Given the description of an element on the screen output the (x, y) to click on. 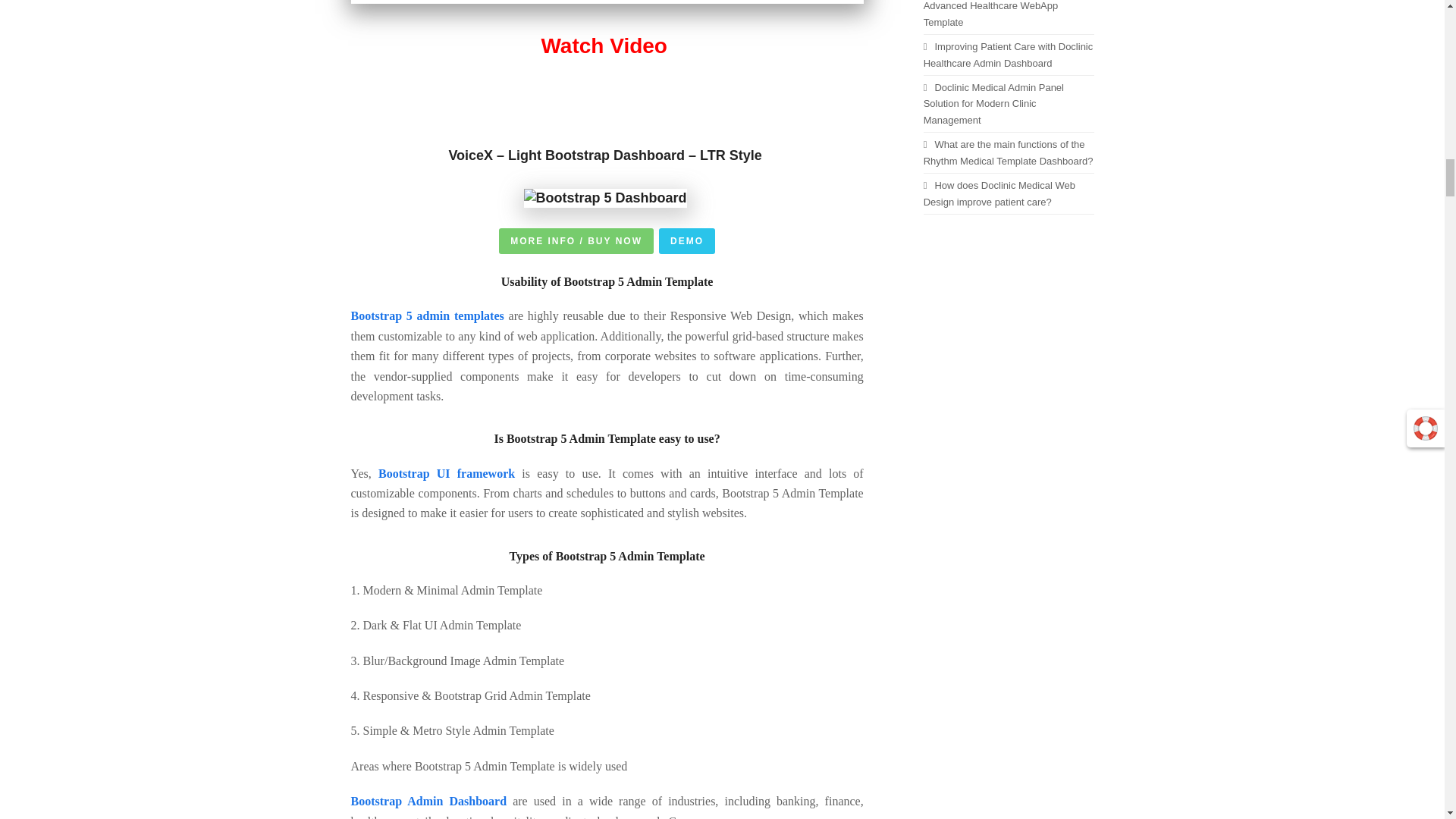
Bootstrap UI framework (446, 472)
Bootstrap 5 admin templates (426, 315)
Bootstrap Admin Dashboard (428, 800)
DEMO (686, 240)
